Given the description of an element on the screen output the (x, y) to click on. 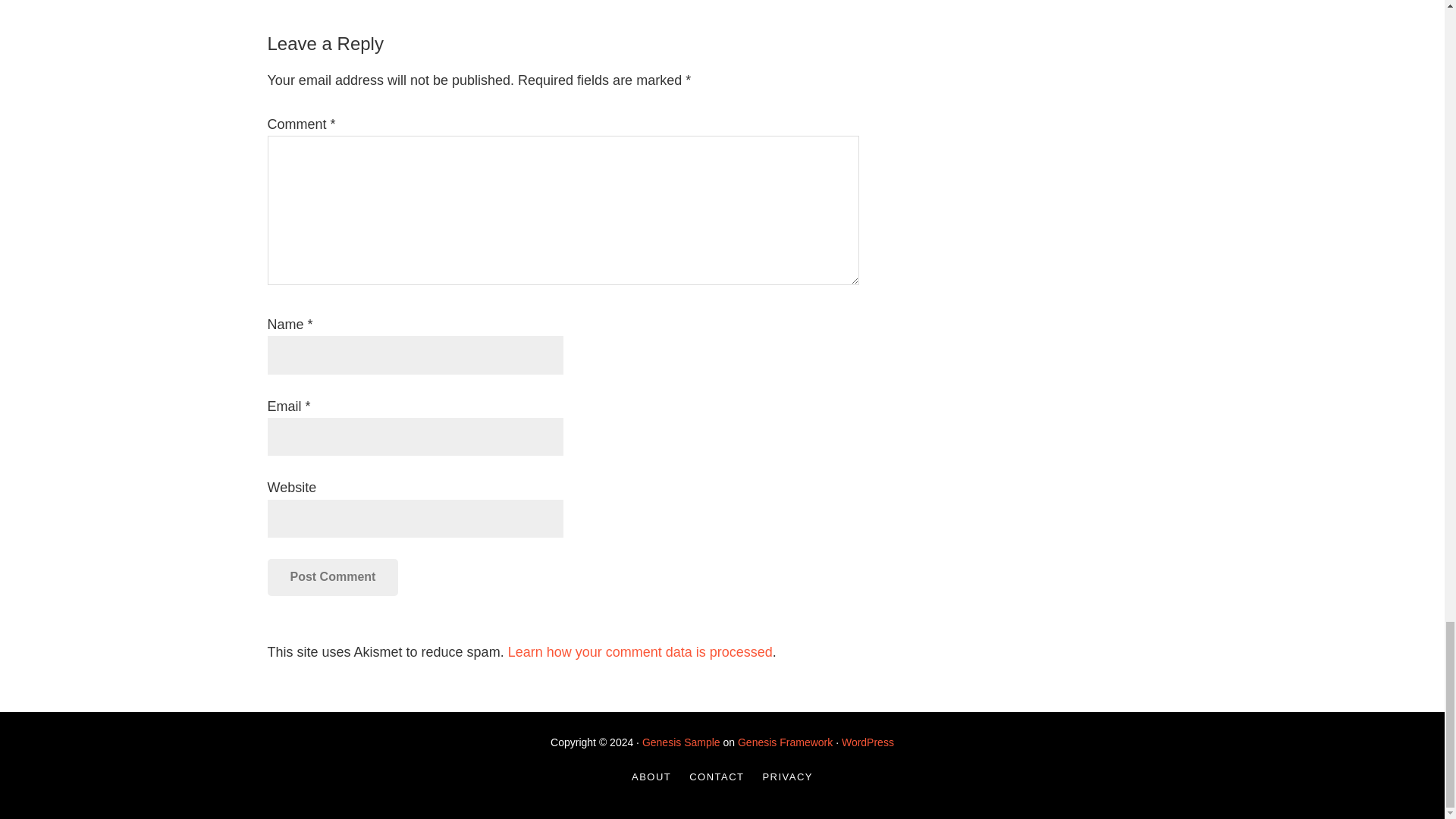
Post Comment (331, 576)
Learn how your comment data is processed (640, 652)
Post Comment (331, 576)
